Given the description of an element on the screen output the (x, y) to click on. 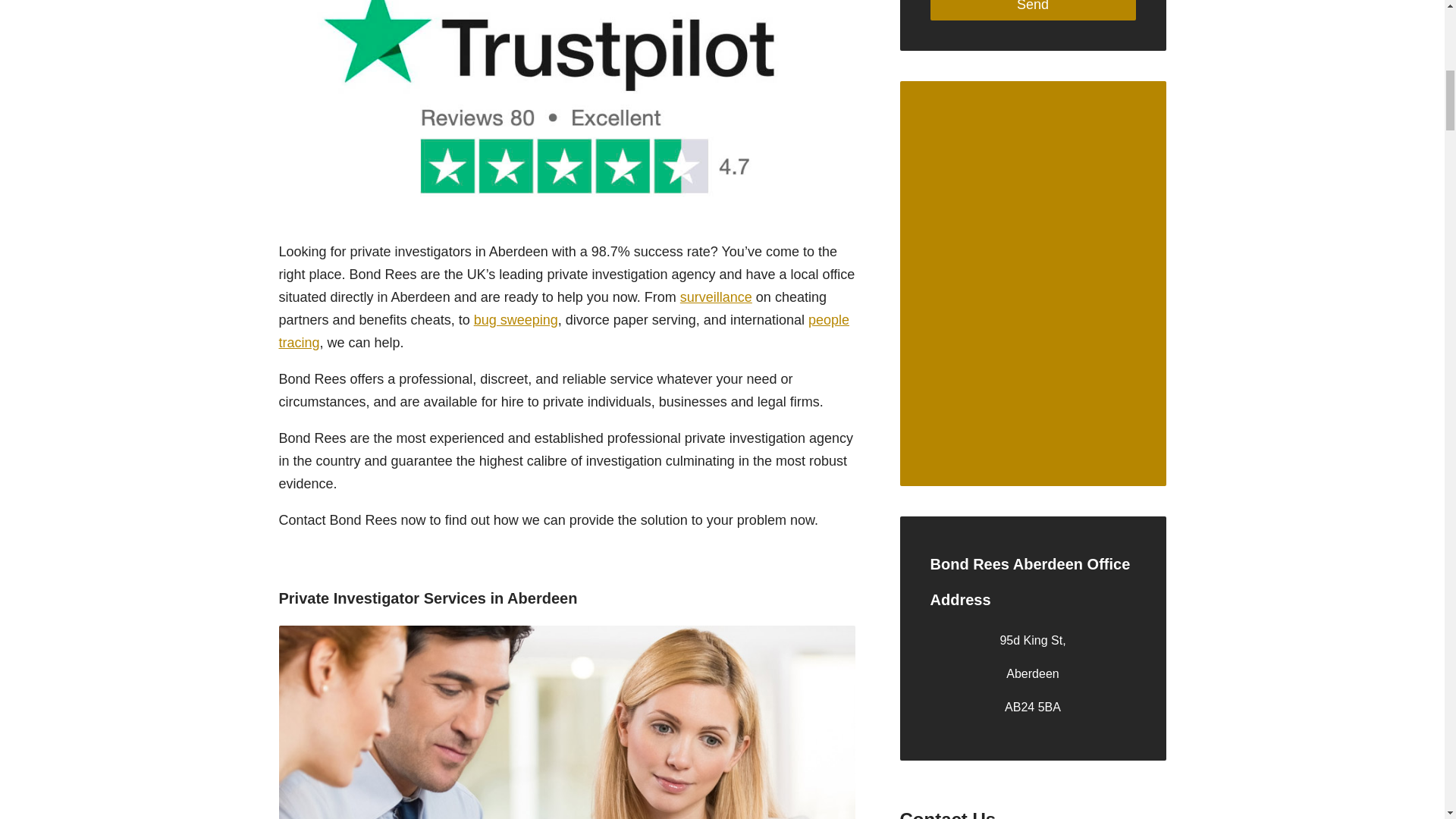
surveillance (715, 296)
Send (1032, 10)
bug sweeping (515, 319)
people tracing (564, 331)
